Given the description of an element on the screen output the (x, y) to click on. 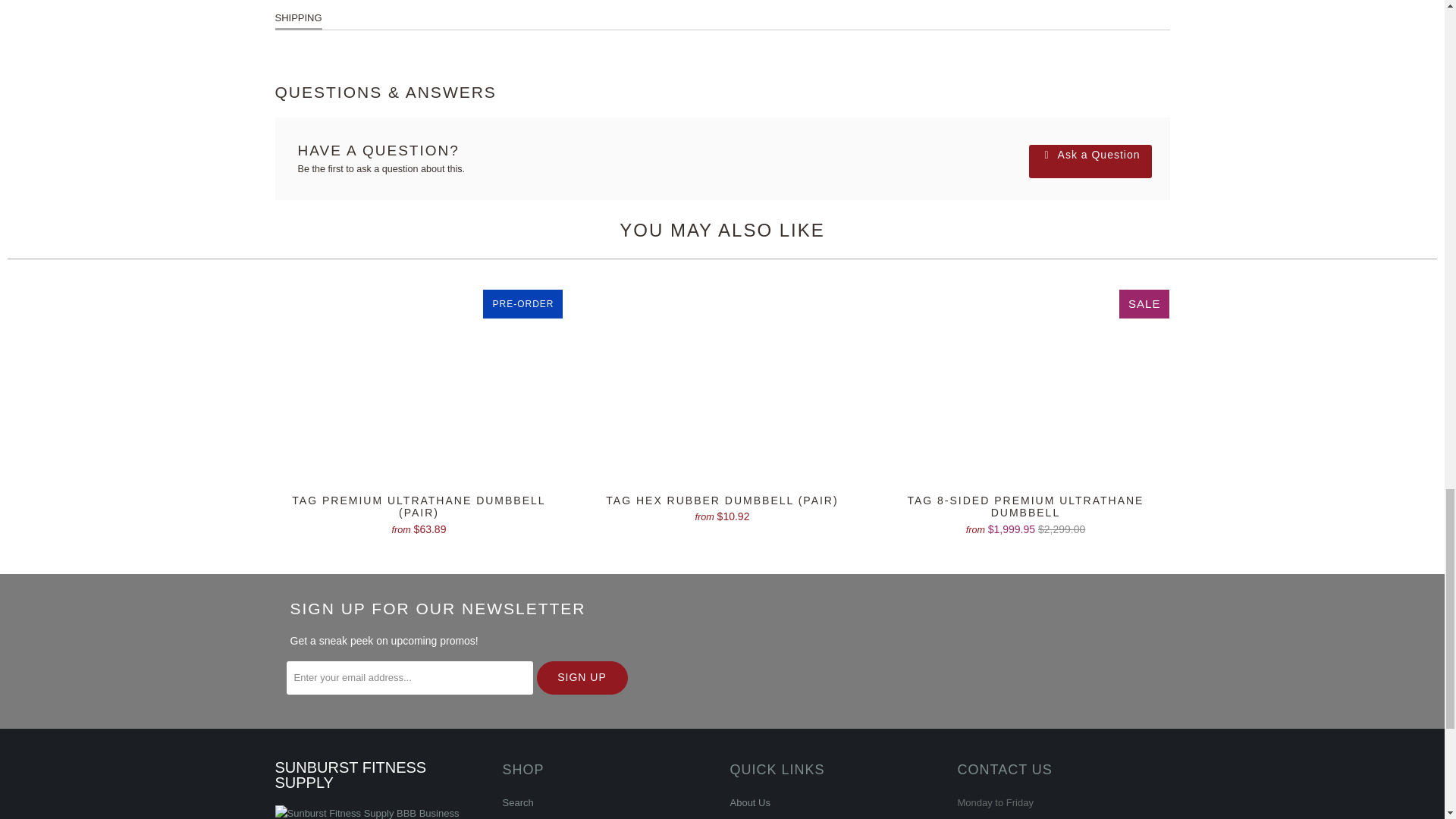
Sign Up (582, 677)
